Given the description of an element on the screen output the (x, y) to click on. 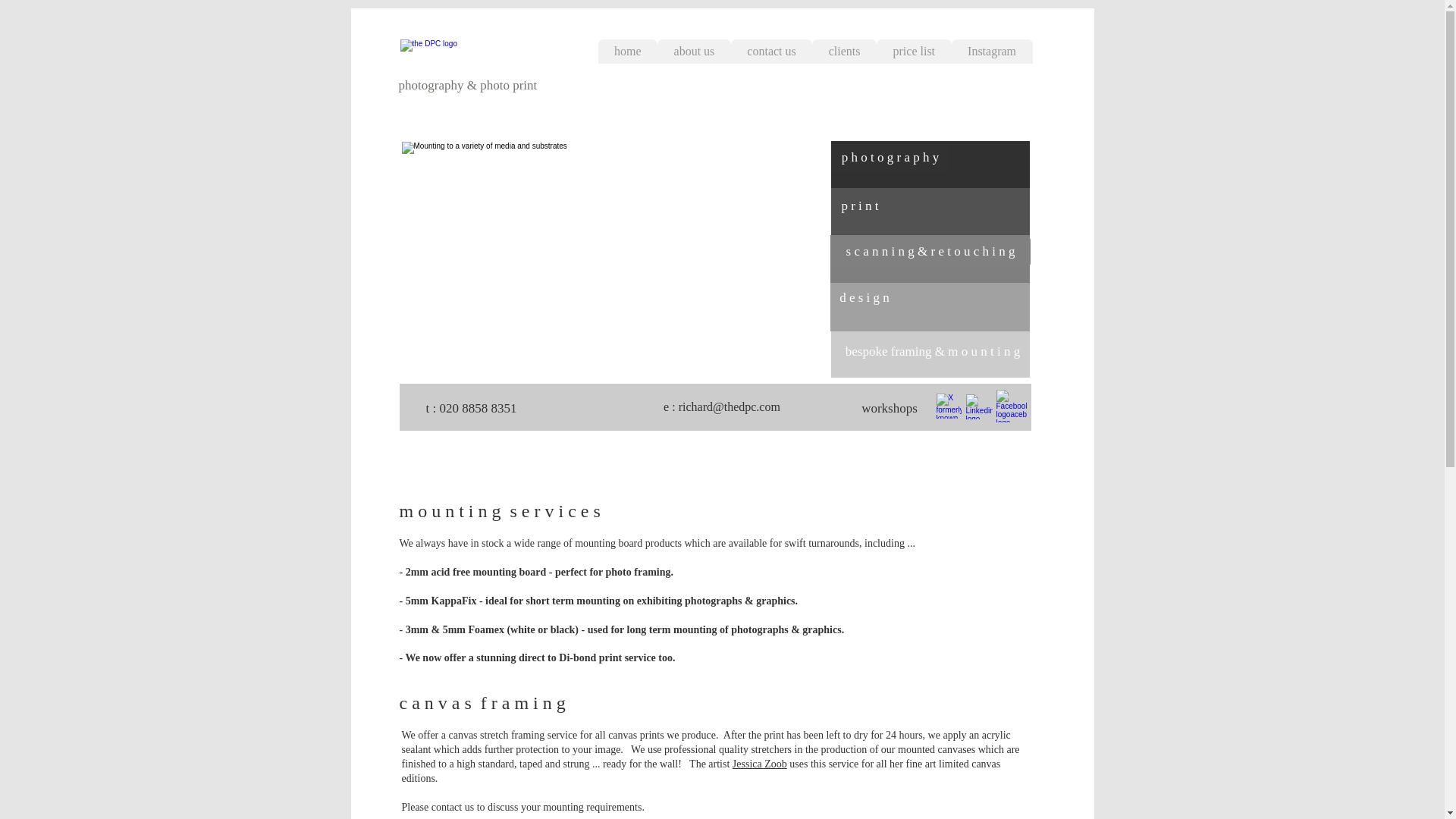
d e s i g n (864, 297)
p h o t o g r a p h y (890, 157)
Jessica Zoob (759, 763)
price list (914, 51)
Instagram (992, 51)
t : 020 8858 8351 (471, 408)
clients (844, 51)
workshops (888, 408)
p r i n t (859, 205)
home (627, 51)
